Given the description of an element on the screen output the (x, y) to click on. 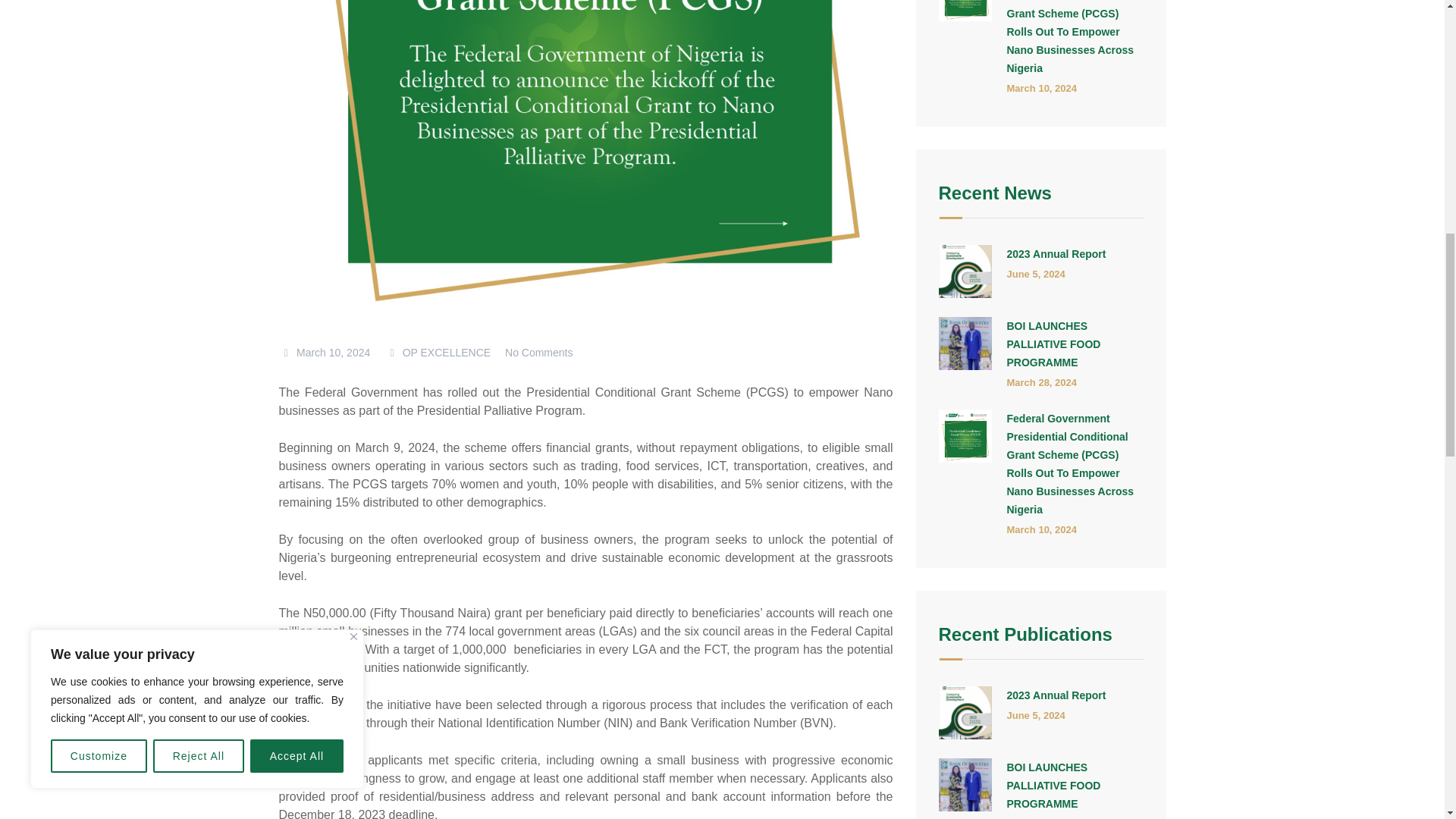
Posted by OP EXCELLENCE (437, 352)
